Given the description of an element on the screen output the (x, y) to click on. 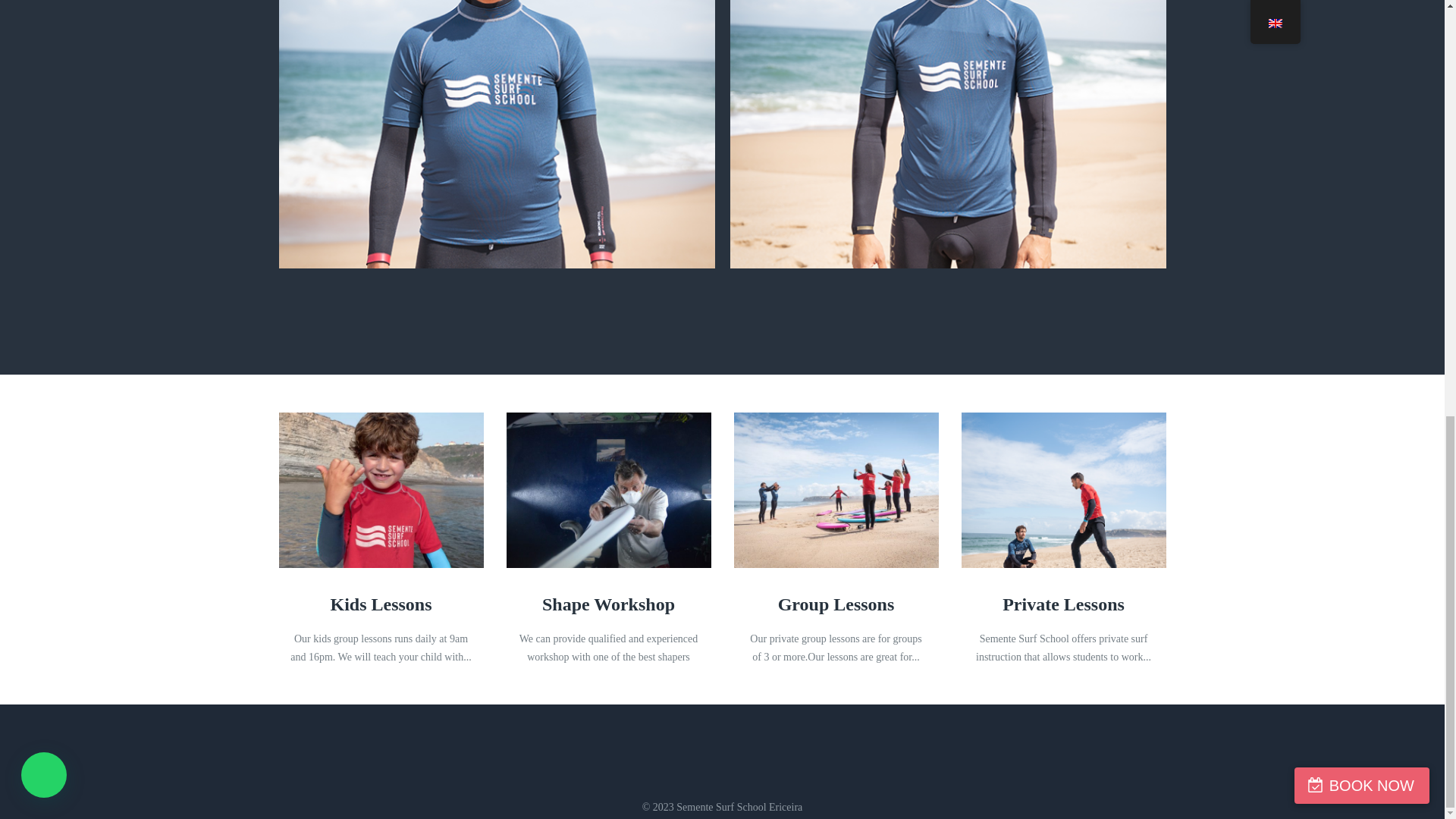
FareHarbor (1342, 34)
